Given the description of an element on the screen output the (x, y) to click on. 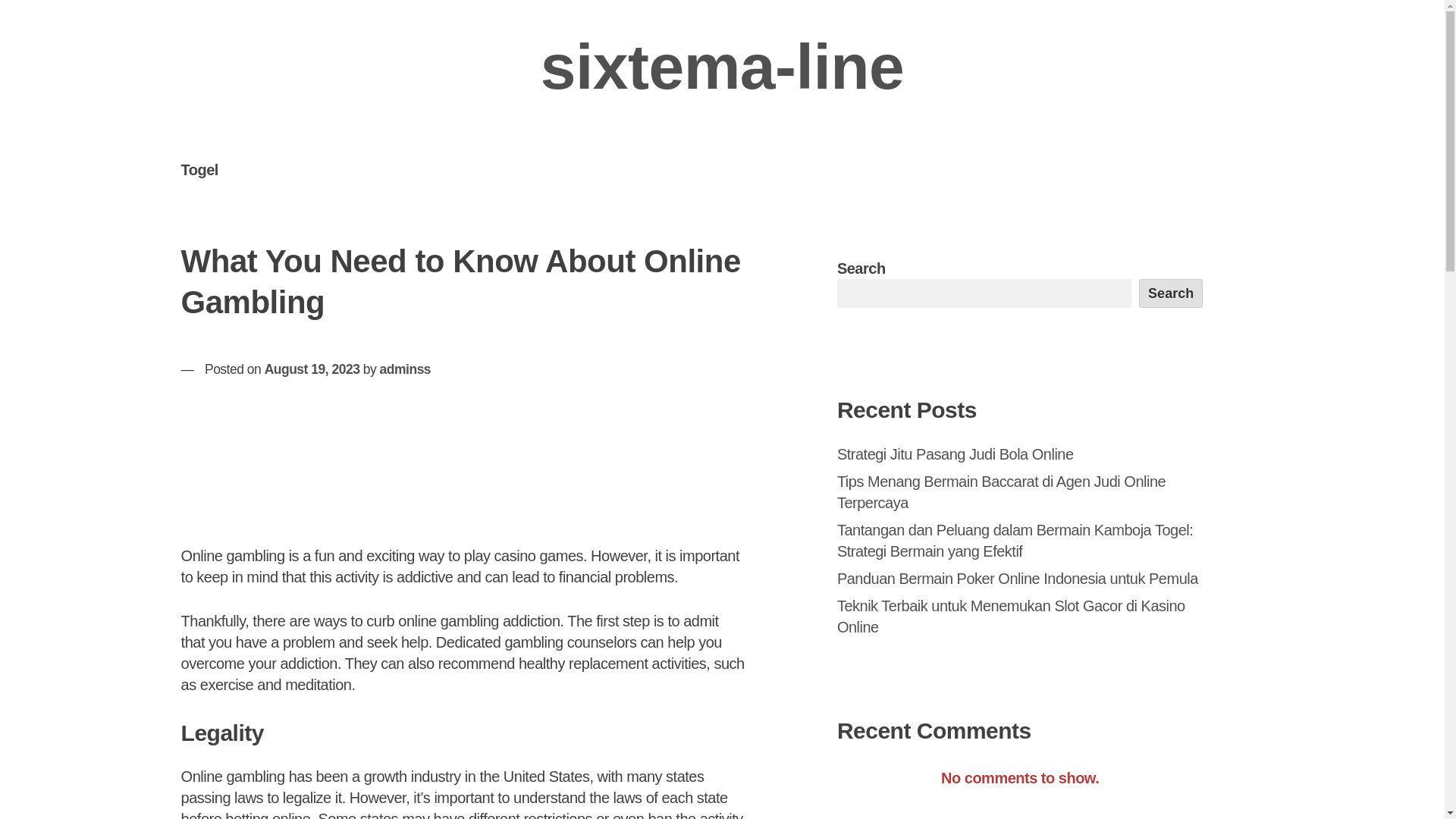
Strategi Jitu Pasang Judi Bola Online (955, 453)
Togel (198, 169)
Panduan Bermain Poker Online Indonesia untuk Pemula (1017, 578)
sixtema-line (722, 66)
Teknik Terbaik untuk Menemukan Slot Gacor di Kasino Online (1011, 616)
adminss (405, 368)
Search (1171, 293)
Tips Menang Bermain Baccarat di Agen Judi Online Terpercaya (1001, 492)
August 19, 2023 (311, 368)
